Given the description of an element on the screen output the (x, y) to click on. 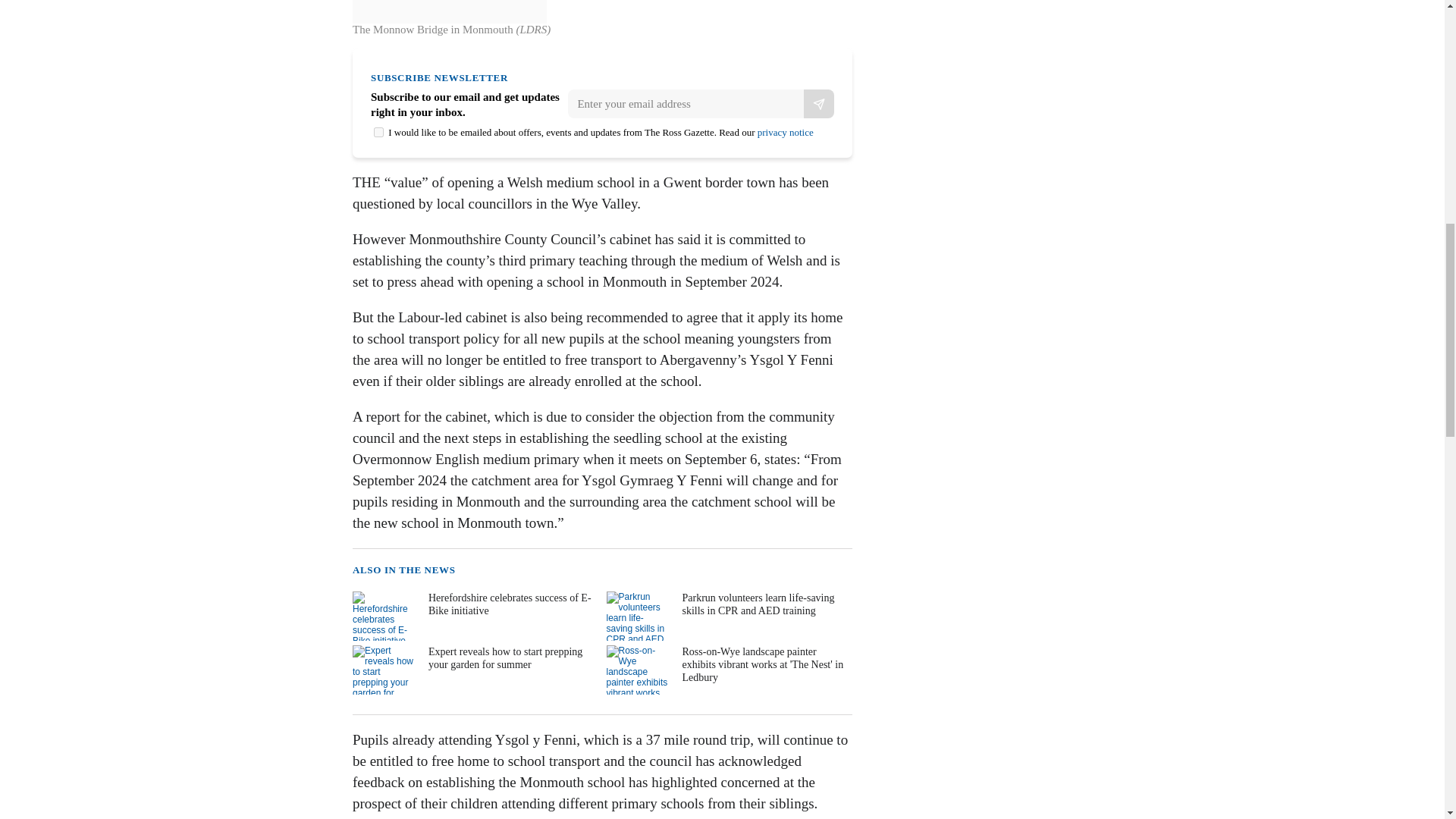
Expert reveals how to start prepping your garden for summer (473, 669)
Herefordshire celebrates success of E-Bike initiative (473, 615)
on (379, 132)
privacy notice (785, 132)
